Given the description of an element on the screen output the (x, y) to click on. 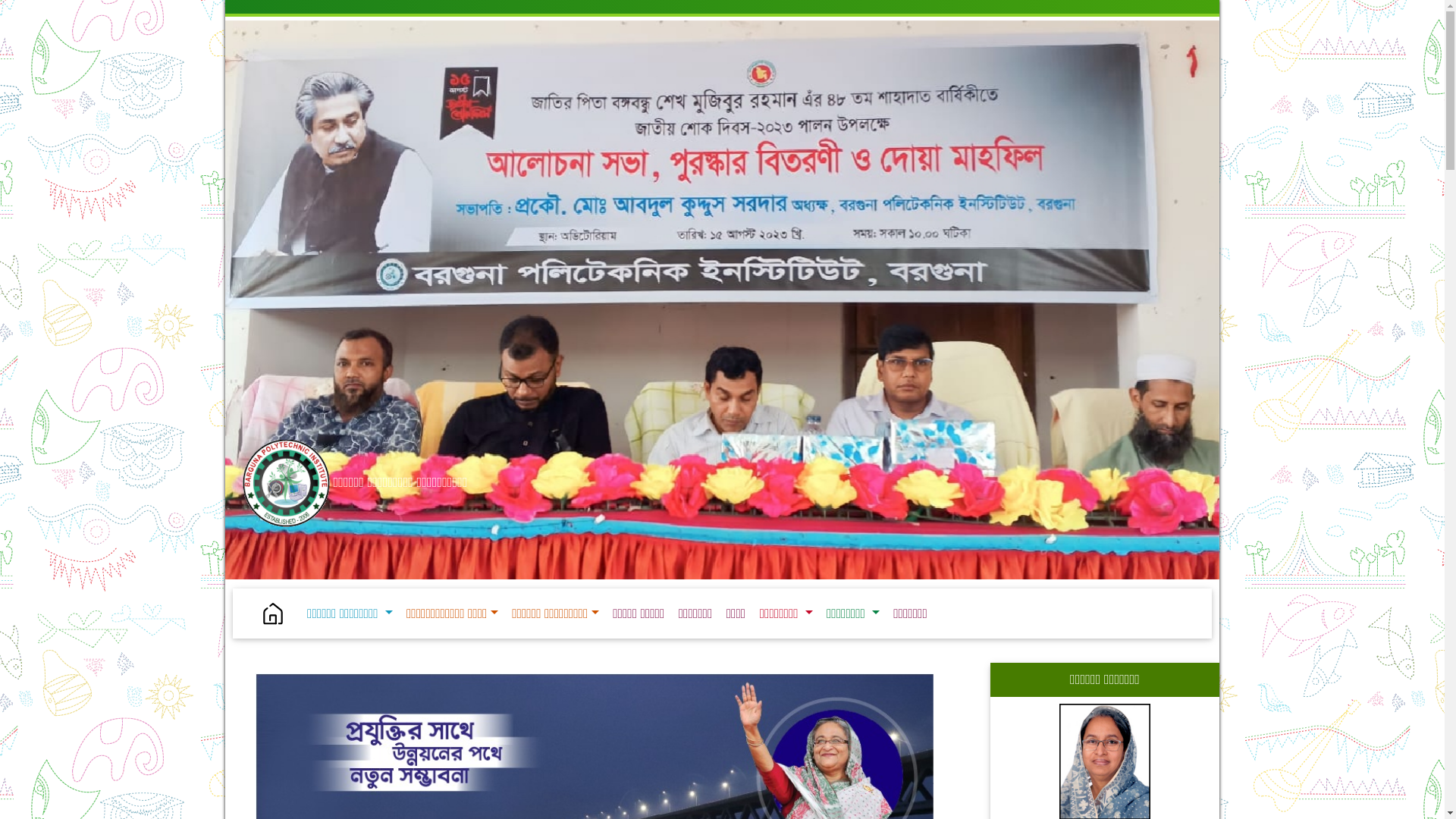
Next Element type: text (995, 260)
Previous Element type: text (260, 260)
